Given the description of an element on the screen output the (x, y) to click on. 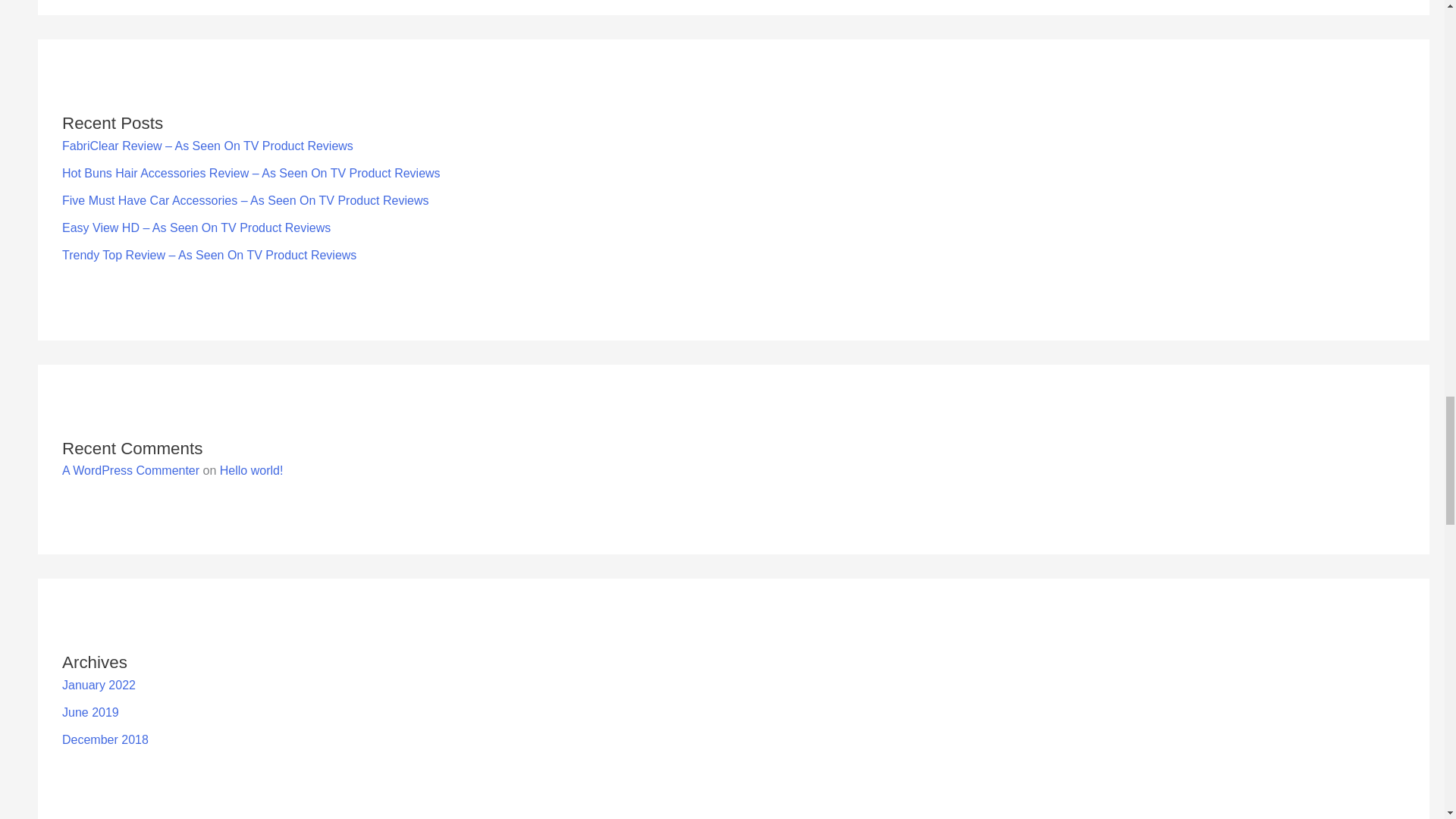
A WordPress Commenter (130, 470)
June 2019 (90, 712)
December 2018 (105, 739)
January 2022 (98, 684)
Hello world! (251, 470)
